Given the description of an element on the screen output the (x, y) to click on. 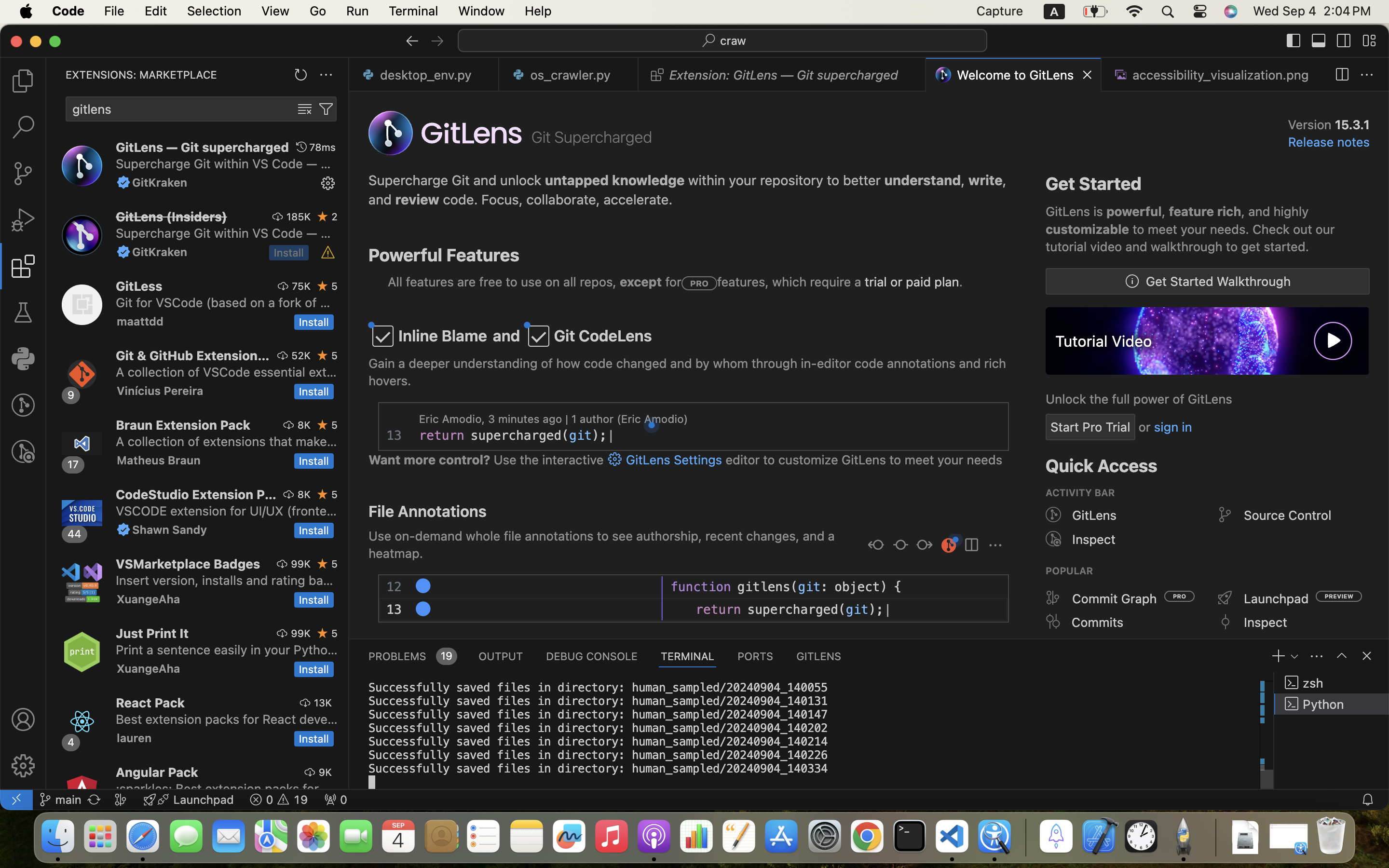
review Element type: AXStaticText (417, 199)
 Element type: AXStaticText (1053, 597)
0 accessibility_visualization.png   Element type: AXRadioButton (1214, 74)
trial or paid plan Element type: AXStaticText (911, 281)
GitKraken Element type: AXStaticText (160, 182)
